Given the description of an element on the screen output the (x, y) to click on. 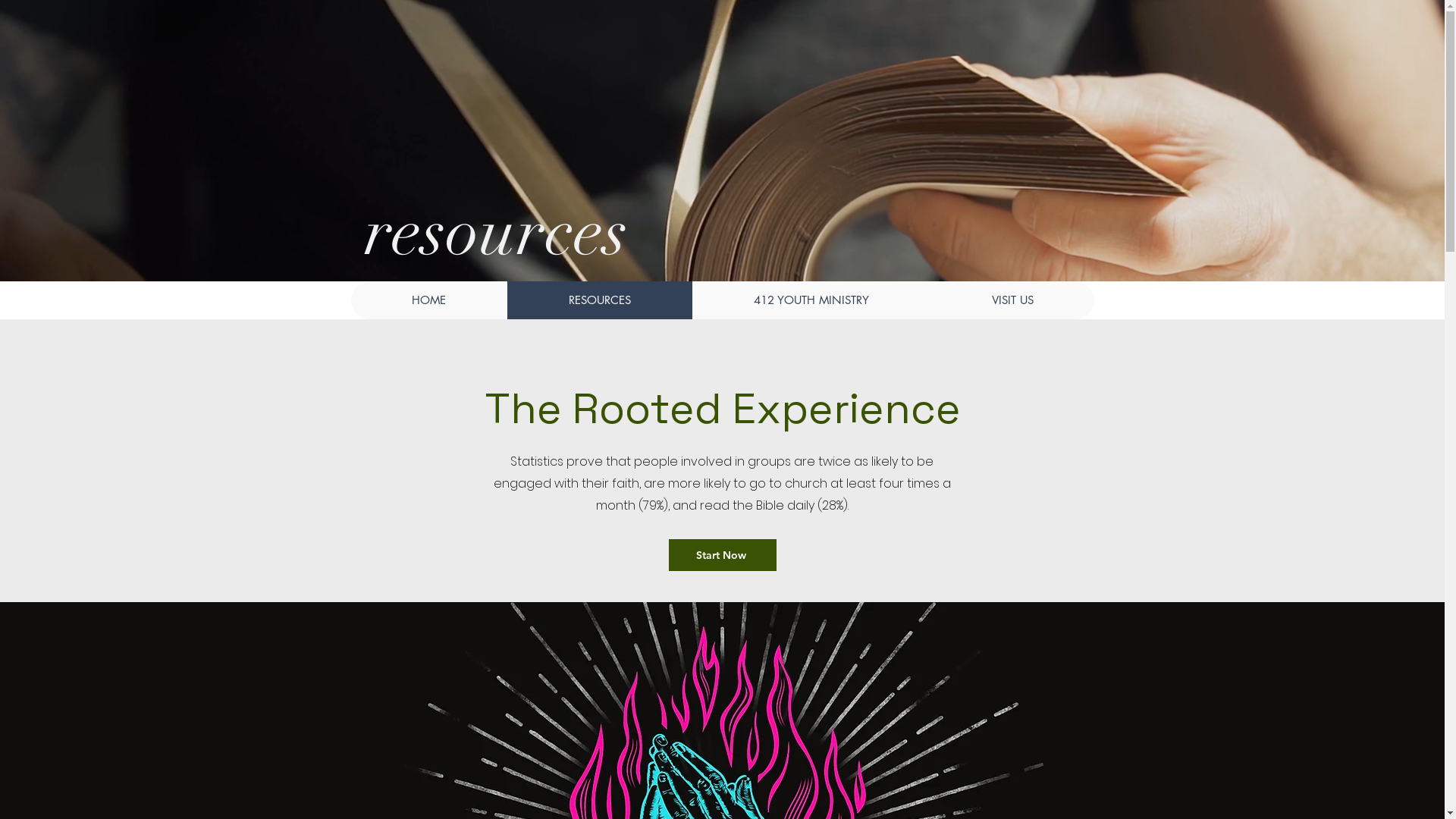
412 YOUTH MINISTRY Element type: text (810, 300)
Start Now Element type: text (722, 555)
HOME Element type: text (428, 300)
VISIT US Element type: text (1011, 300)
RESOURCES Element type: text (598, 300)
